Given the description of an element on the screen output the (x, y) to click on. 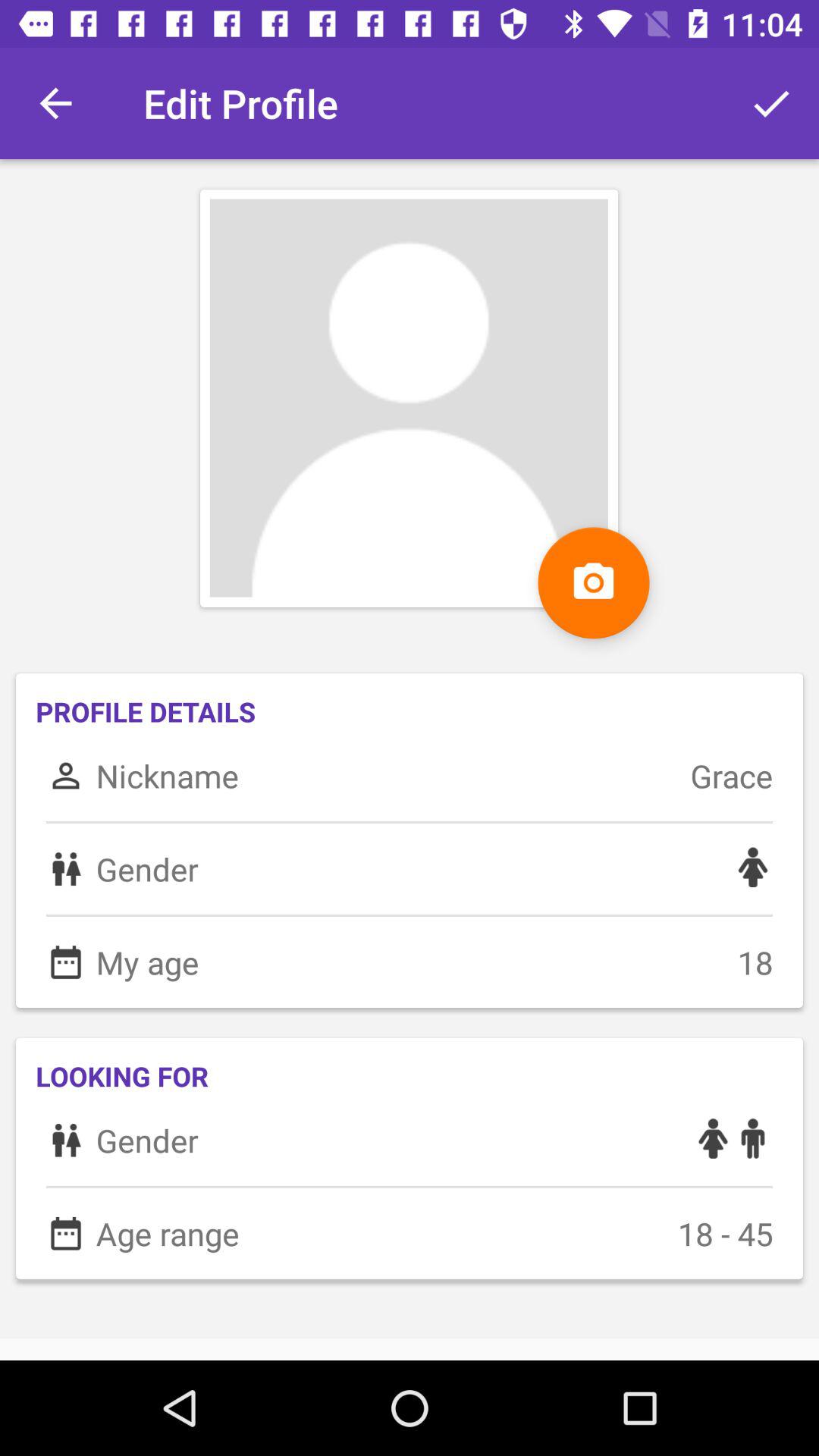
turn on icon next to edit profile (771, 103)
